Given the description of an element on the screen output the (x, y) to click on. 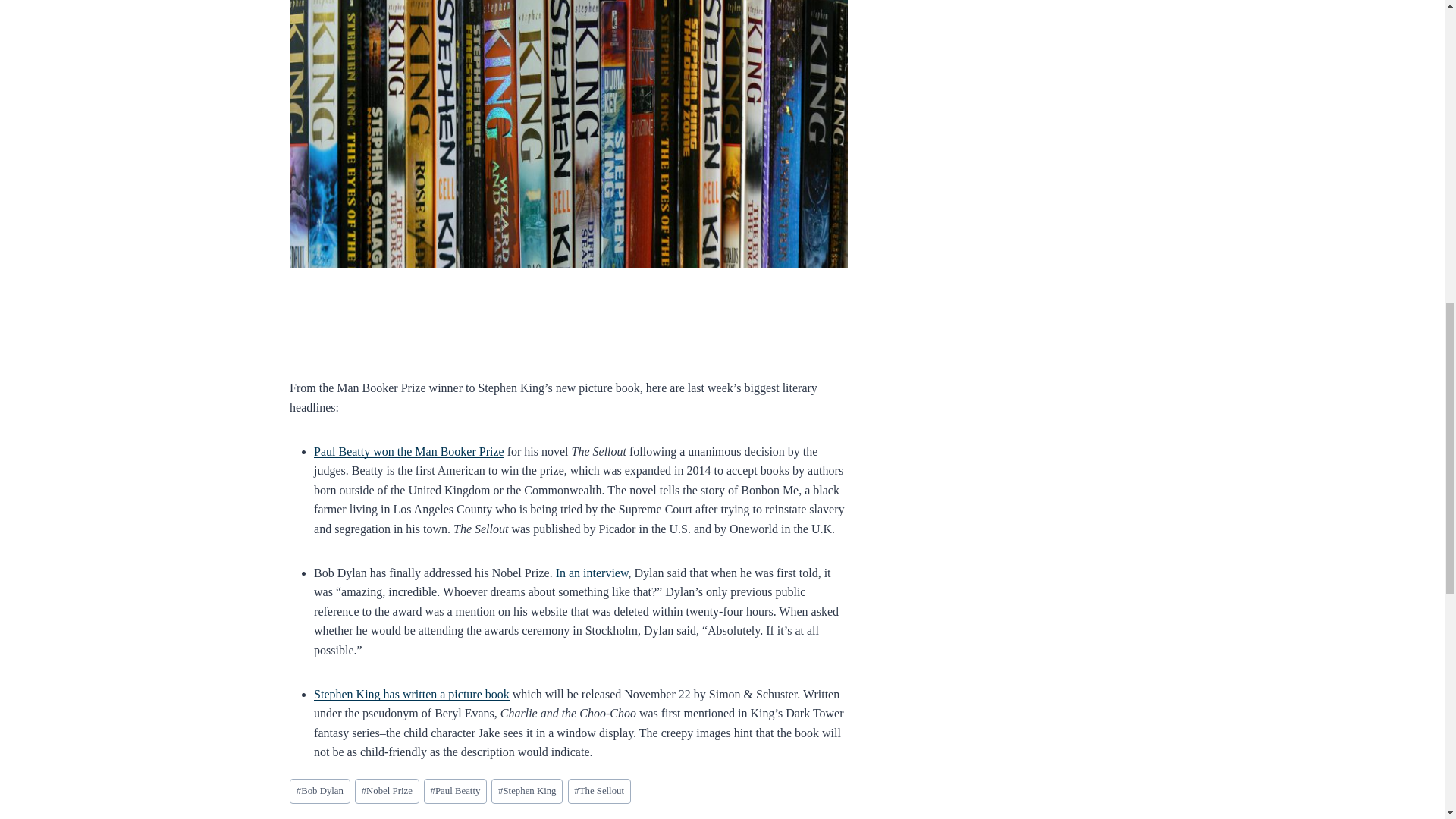
Nobel Prize (387, 790)
Bob Dylan (319, 790)
The Sellout (598, 790)
Paul Beatty (454, 790)
Stephen King (527, 790)
